Given the description of an element on the screen output the (x, y) to click on. 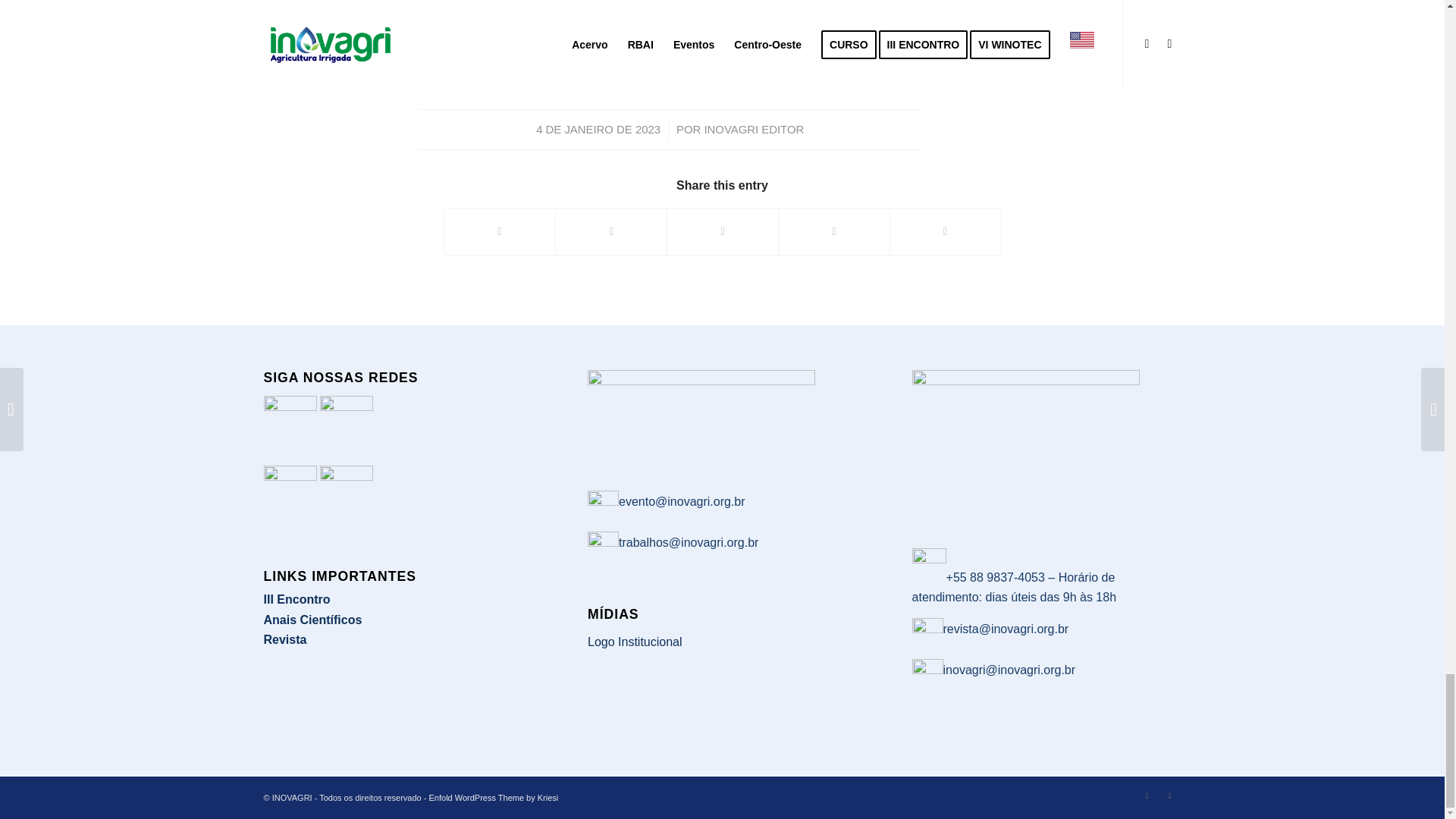
Instagram (1146, 794)
INOVAGRI EDITOR (753, 129)
Facebook (1169, 794)
Posts de Inovagri Editor (753, 129)
